Given the description of an element on the screen output the (x, y) to click on. 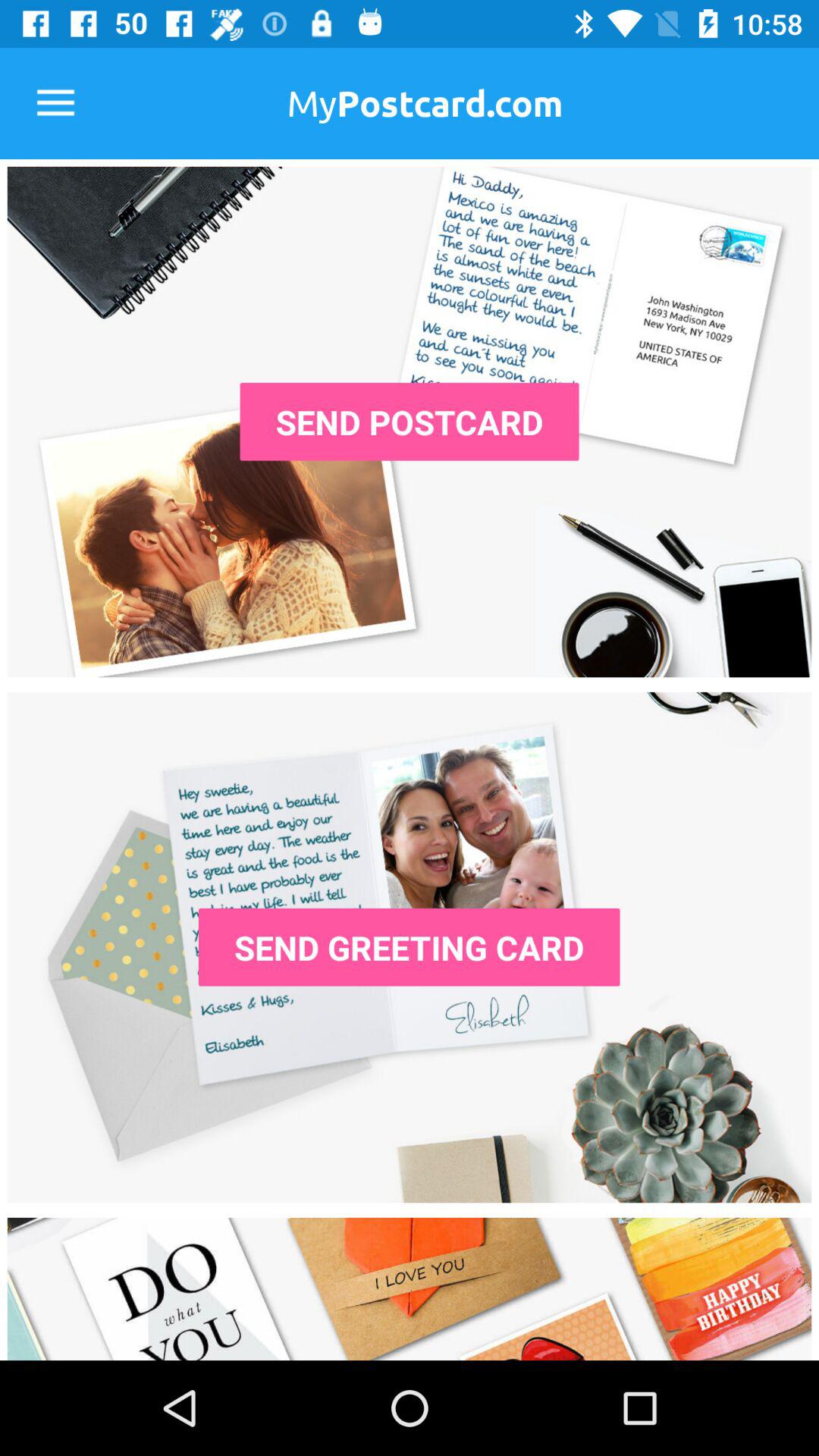
swith for send card (409, 947)
